Given the description of an element on the screen output the (x, y) to click on. 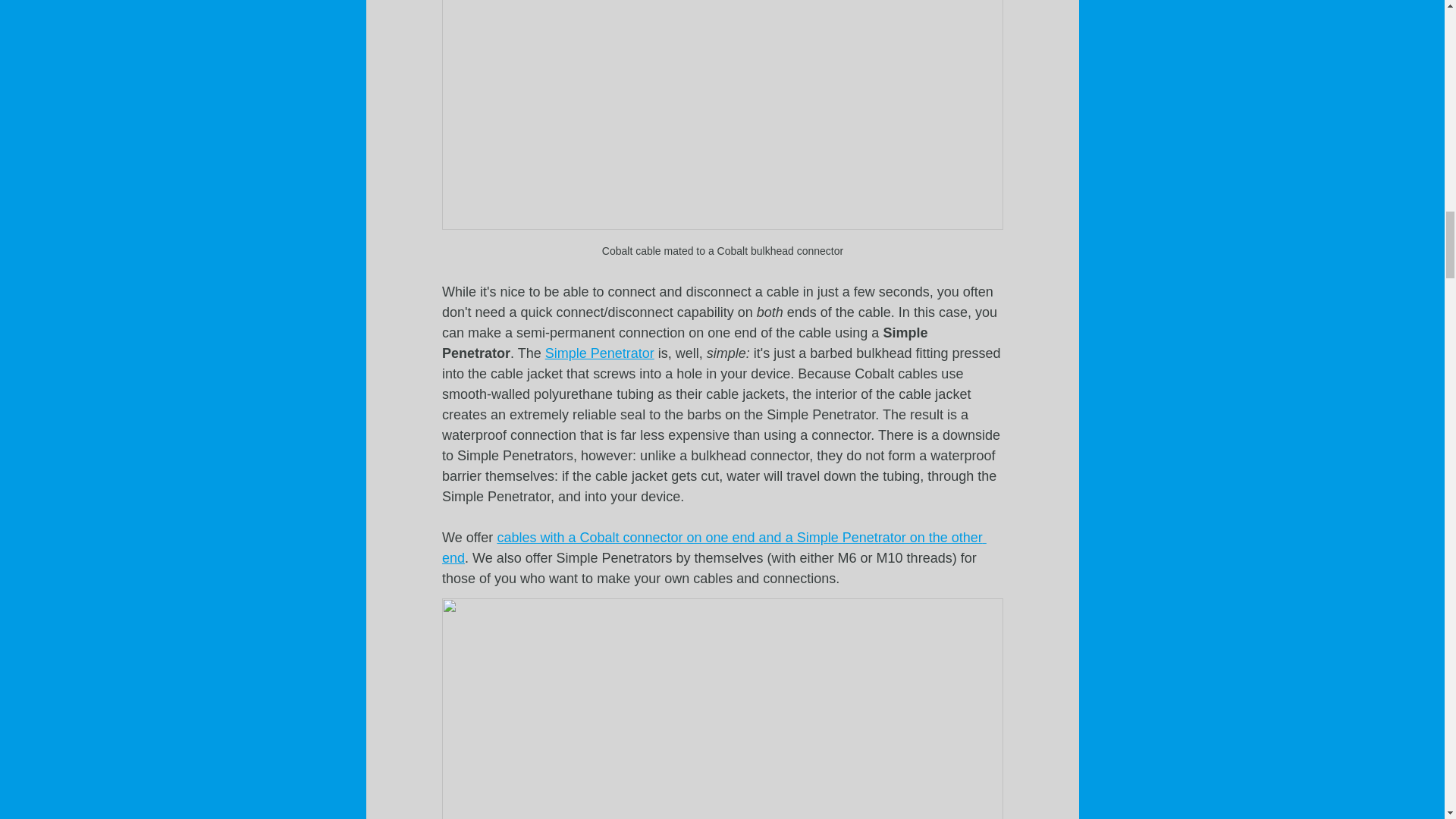
Simple Penetrator (598, 353)
